Given the description of an element on the screen output the (x, y) to click on. 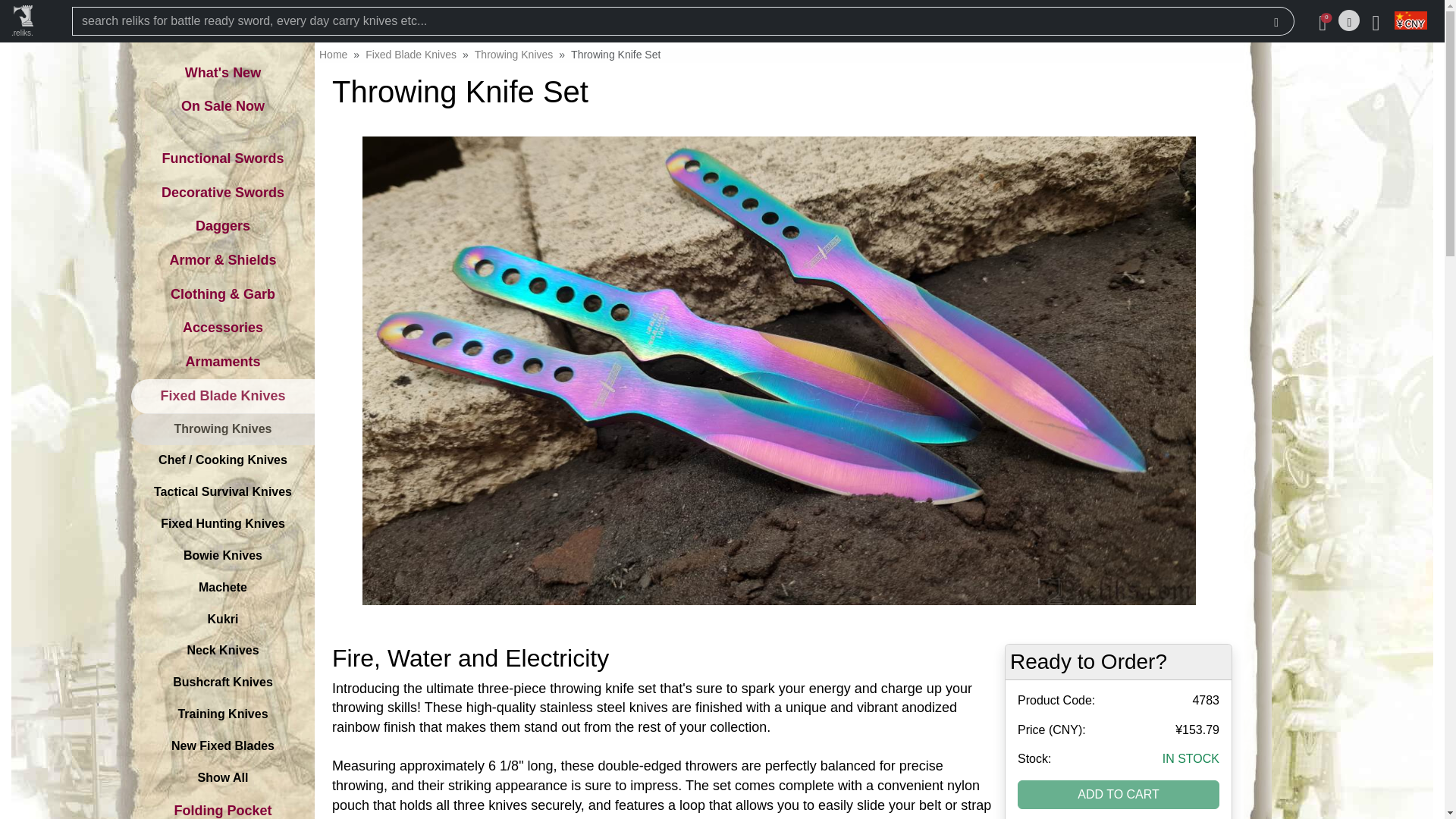
Throwing Knives (513, 54)
Fixed Blade Knives (411, 54)
Select A Currency (1409, 21)
ADD TO CART (1118, 794)
Throwing Knives (513, 54)
Fixed Blade Knives (411, 54)
Home (332, 54)
Home (332, 54)
